Given the description of an element on the screen output the (x, y) to click on. 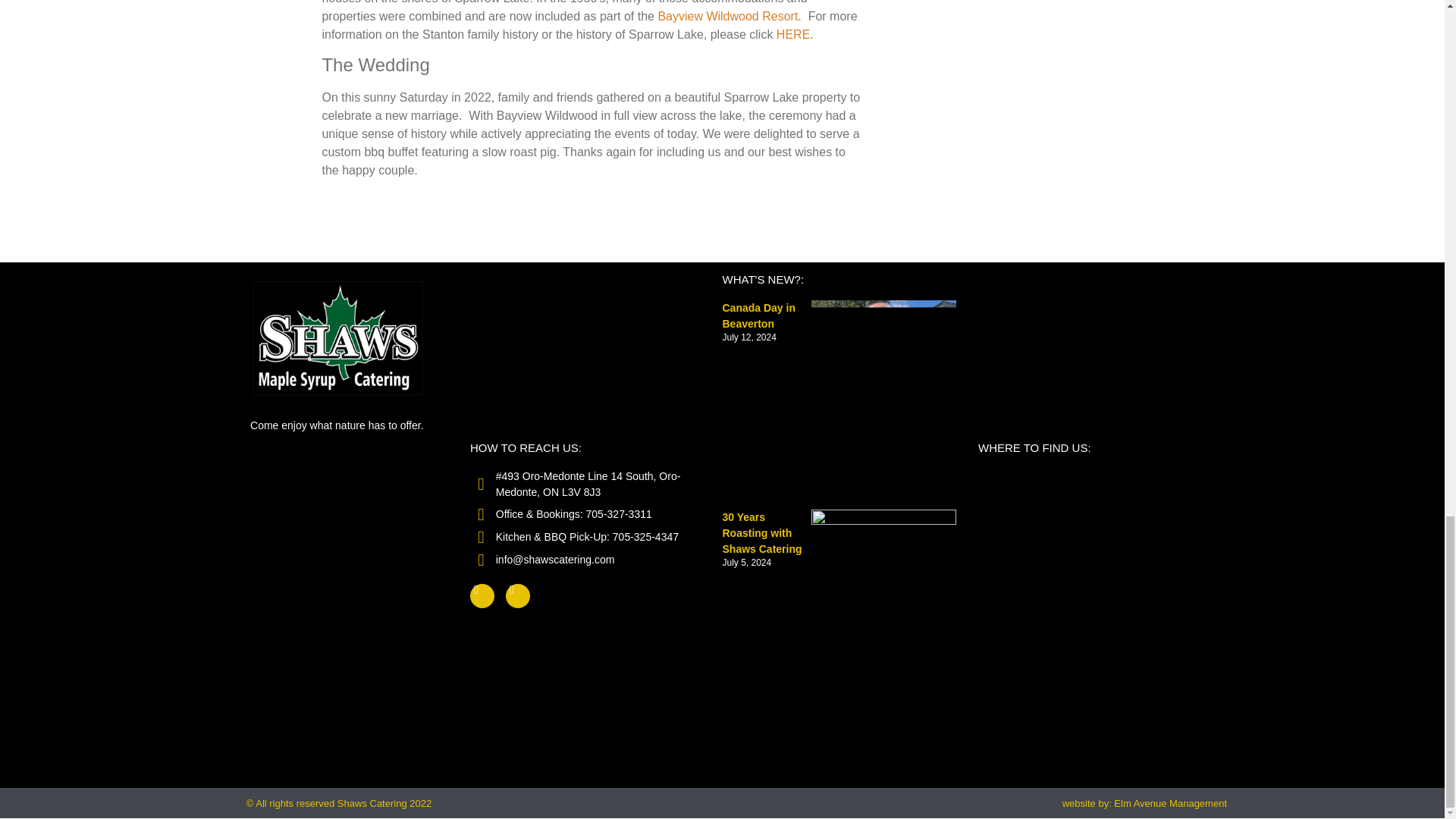
Shaws Catering, 493 Oro-Medonte Line 14 South, ON L3V 8J3 (1095, 538)
